Given the description of an element on the screen output the (x, y) to click on. 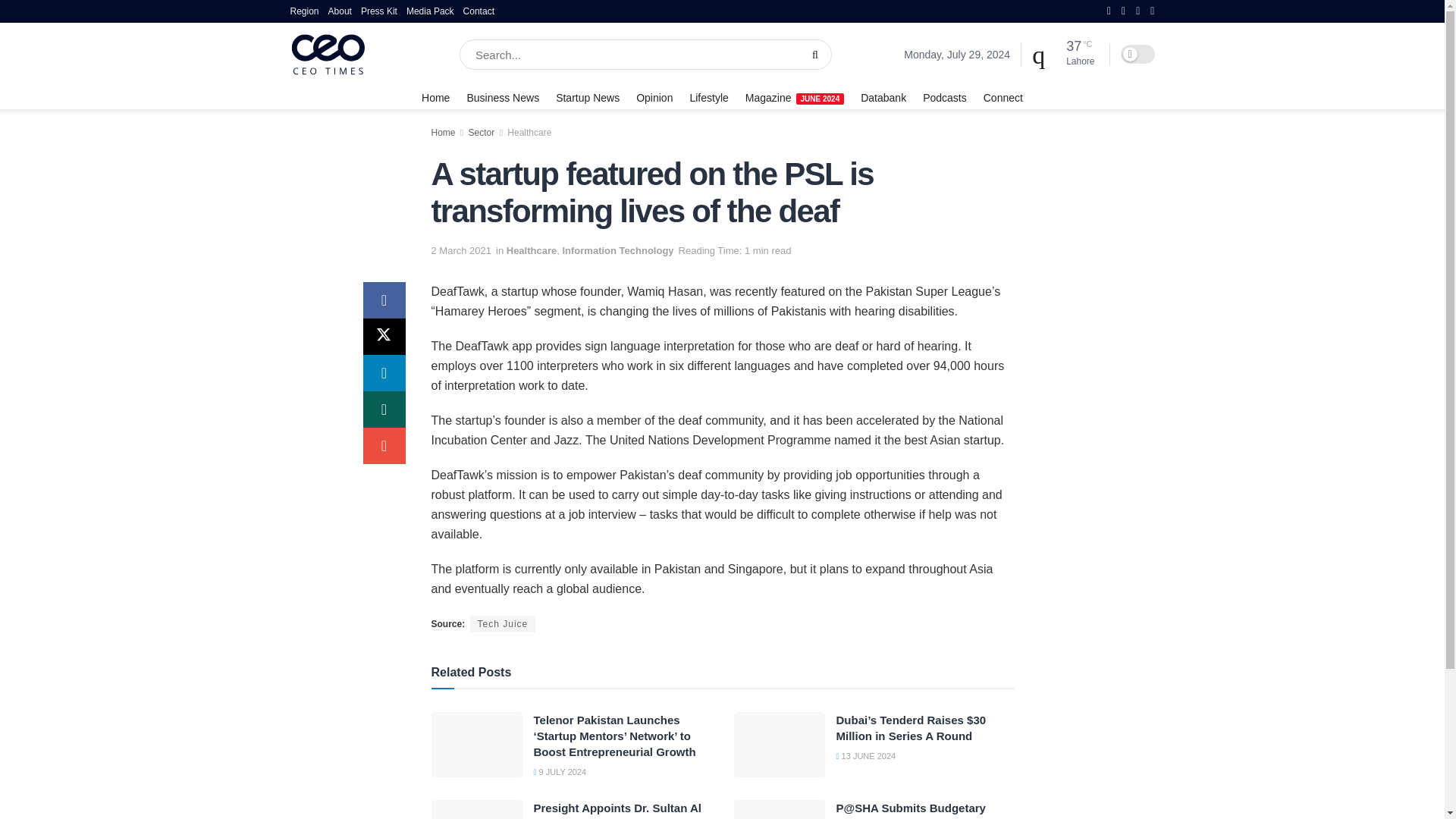
About (340, 11)
Business News (501, 97)
Podcasts (944, 97)
Startup News (588, 97)
MagazineJUNE 2024 (794, 97)
Media Pack (430, 11)
Lifestyle (708, 97)
Opinion (654, 97)
Region (303, 11)
Contact (479, 11)
Databank (882, 97)
Home (435, 97)
Connect (1003, 97)
Press Kit (379, 11)
